Given the description of an element on the screen output the (x, y) to click on. 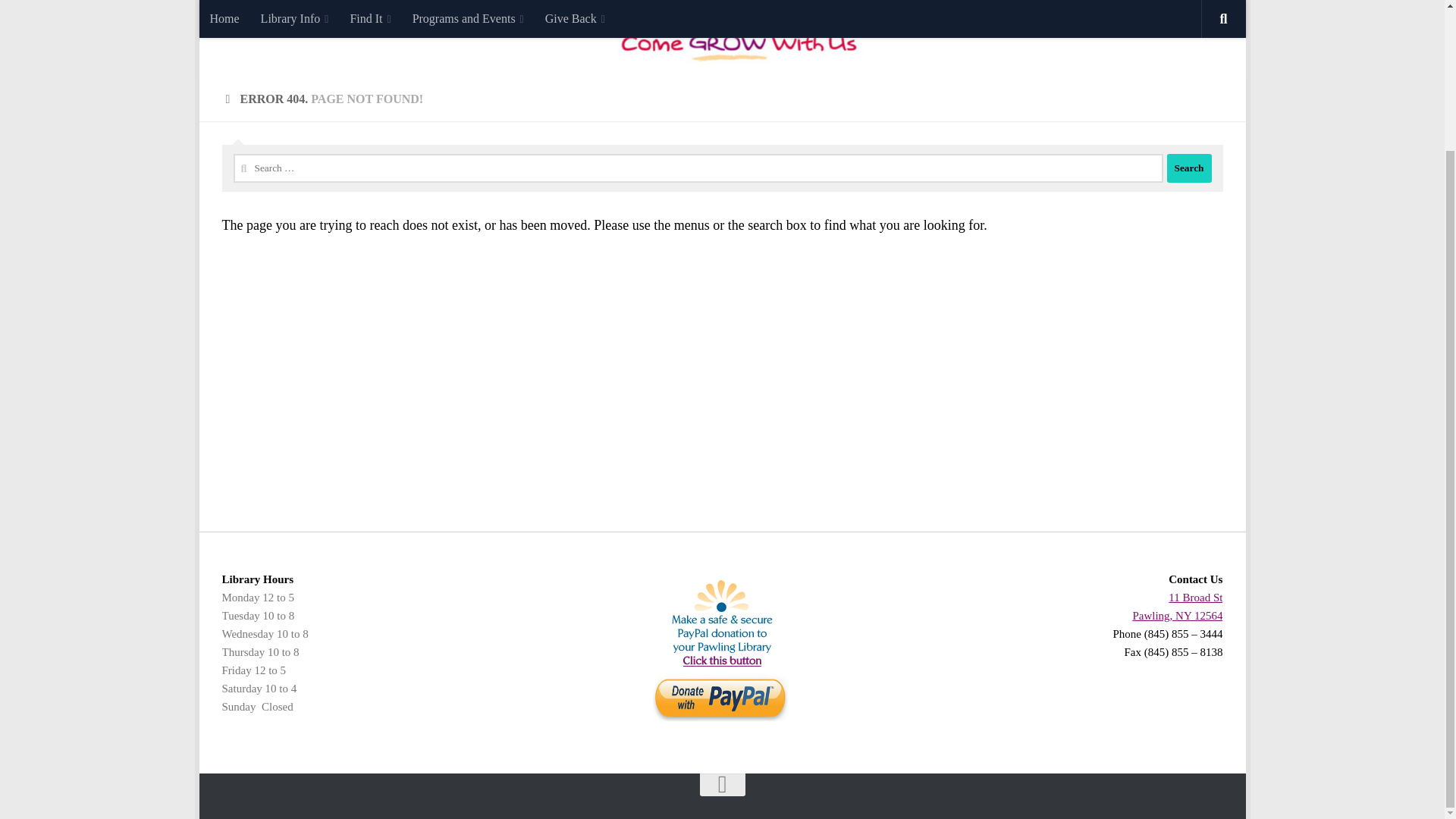
Search (1188, 167)
Search (1188, 167)
